Given the description of an element on the screen output the (x, y) to click on. 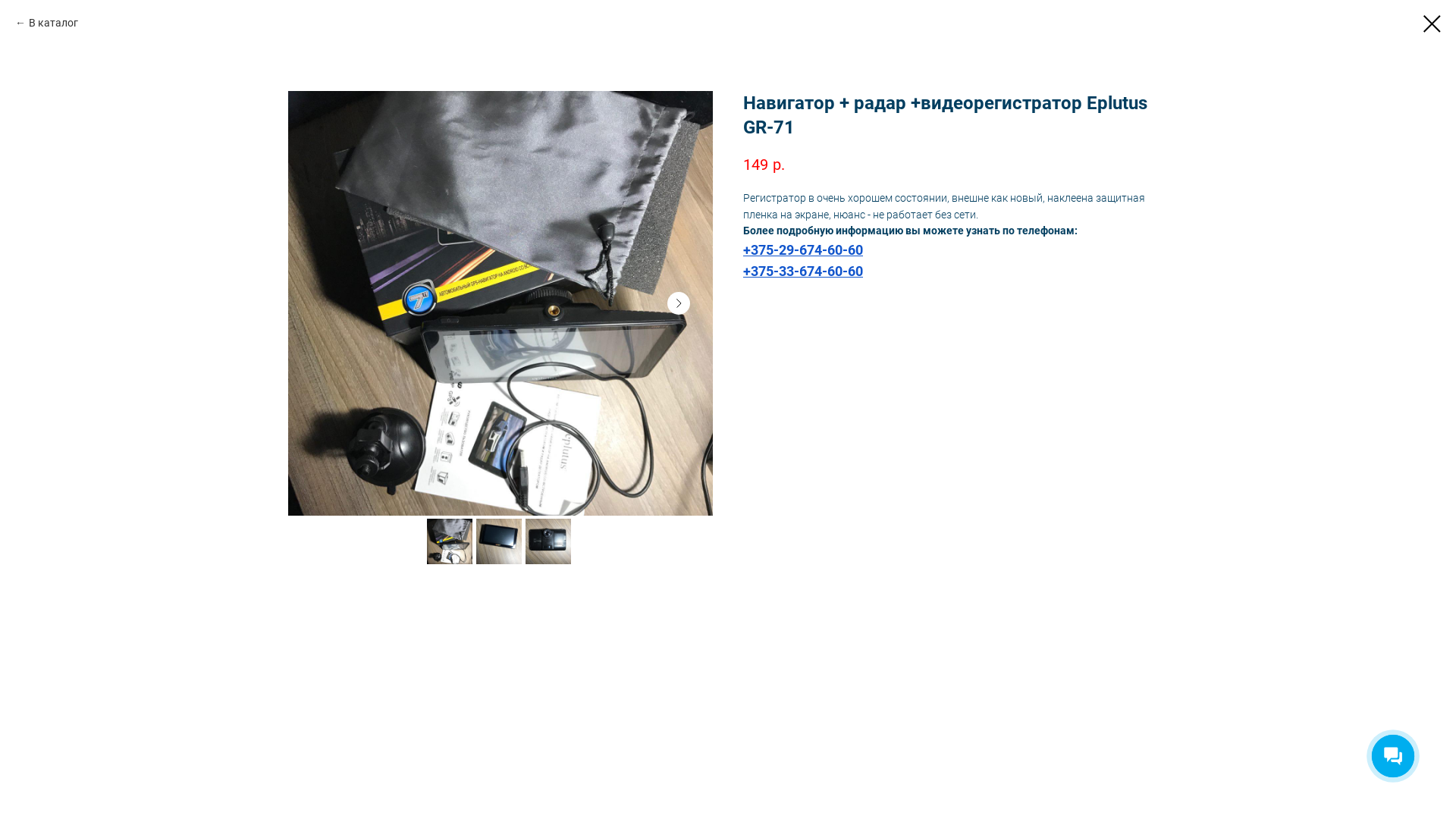
+375-29-674-60-60 Element type: text (802, 250)
+375-33-674-60-60 Element type: text (802, 271)
